Given the description of an element on the screen output the (x, y) to click on. 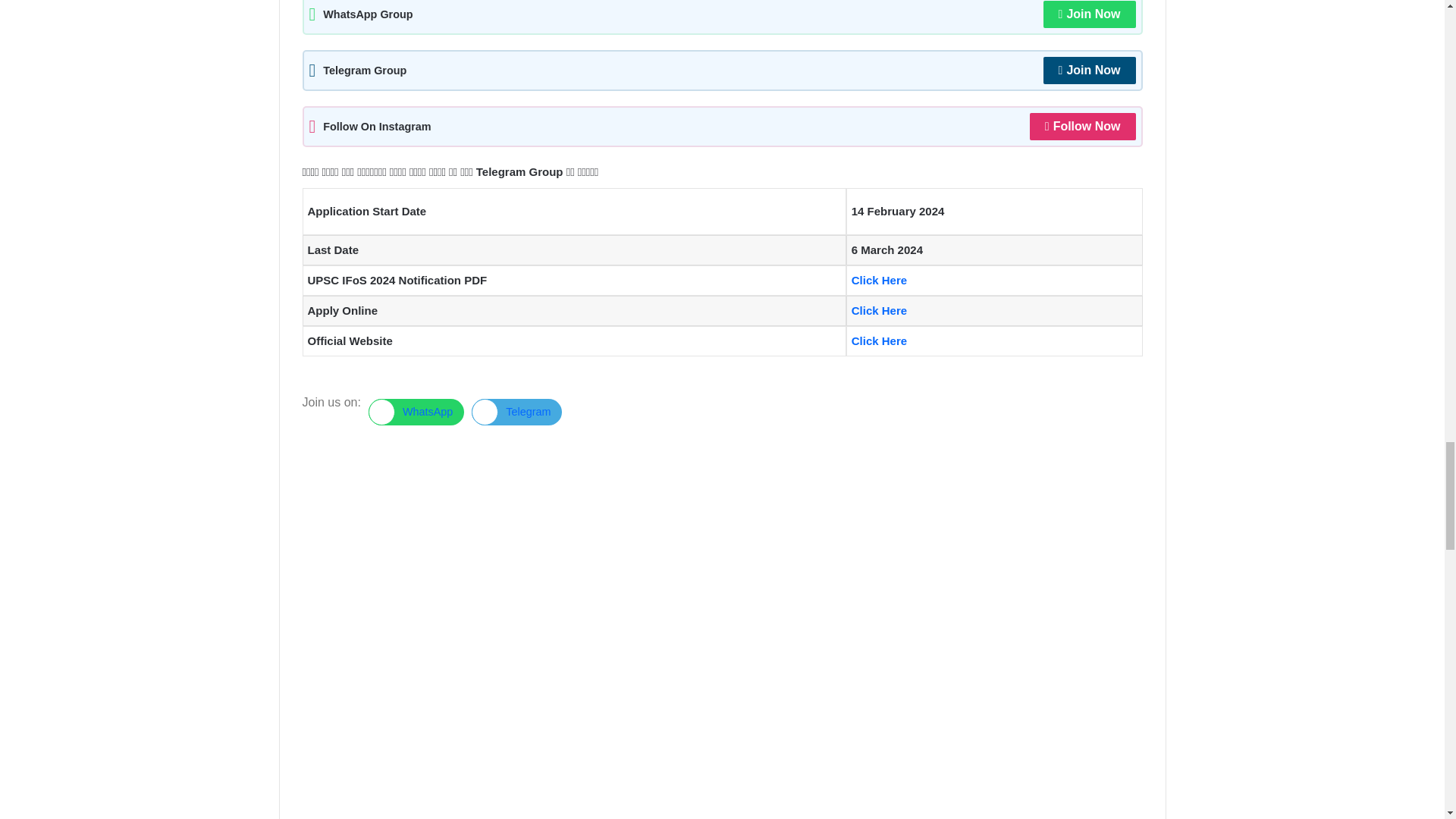
Click Here  (881, 309)
Click Here (879, 340)
Join Now (1089, 13)
Follow Now (1082, 126)
Join Now (1089, 70)
Click Here  (881, 279)
